Given the description of an element on the screen output the (x, y) to click on. 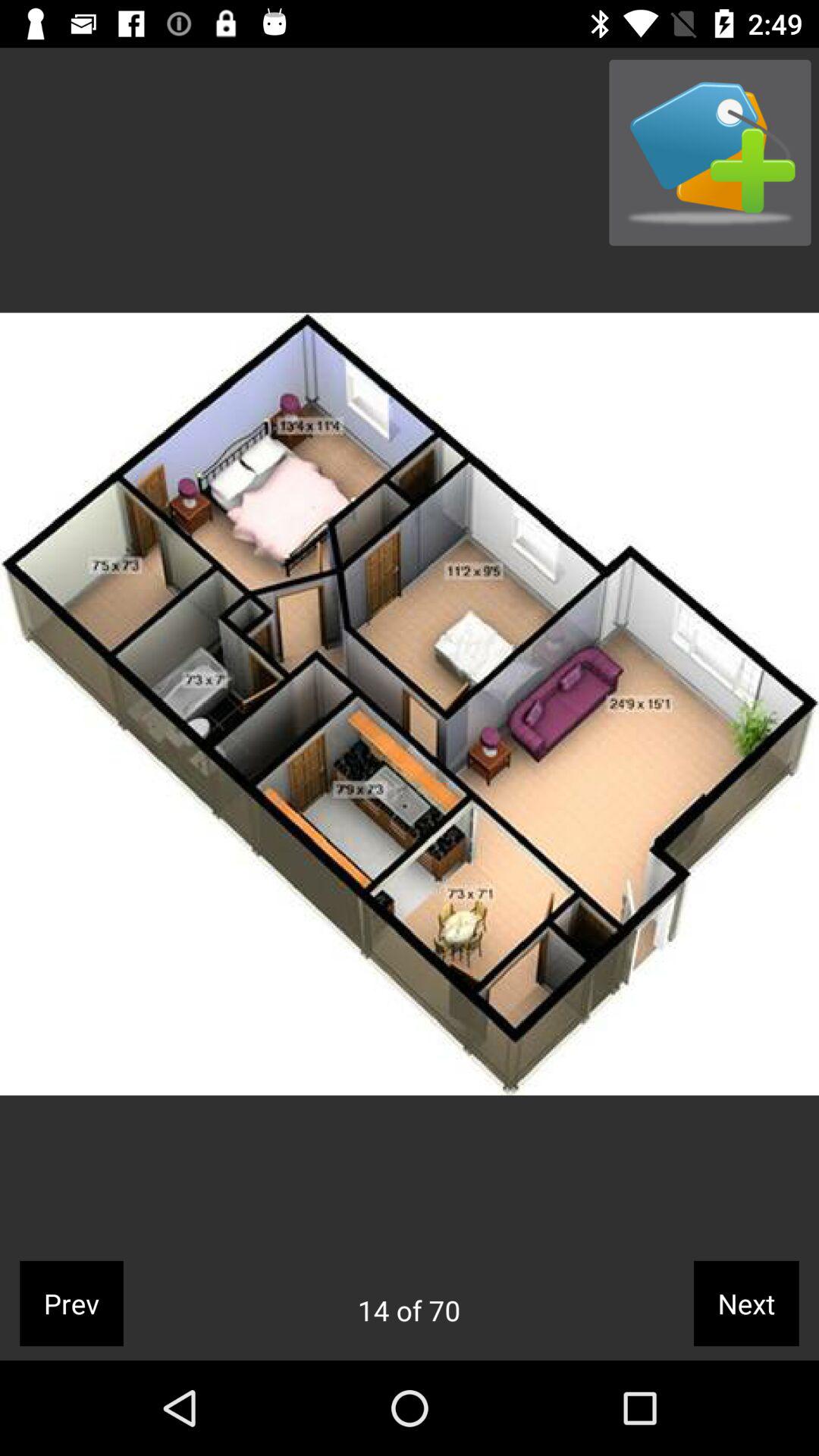
click the icon next to the 14 of 70 icon (71, 1303)
